Given the description of an element on the screen output the (x, y) to click on. 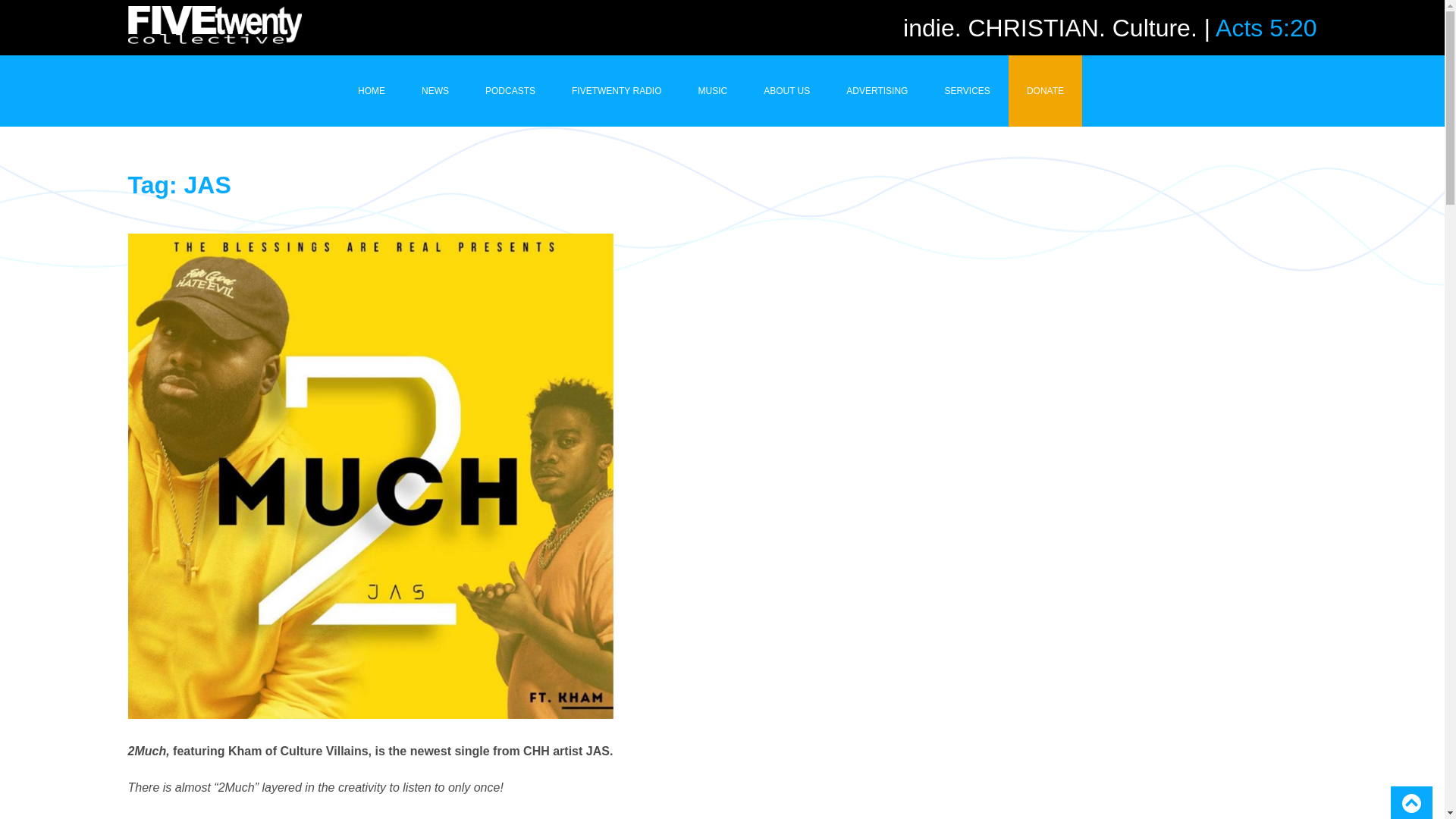
HOME (371, 90)
SERVICES (966, 90)
PODCASTS (510, 90)
NEWS (435, 90)
FIVETWENTY RADIO (616, 90)
ADVERTISING (877, 90)
MUSIC (712, 90)
DONATE (1045, 90)
ABOUT US (786, 90)
